Given the description of an element on the screen output the (x, y) to click on. 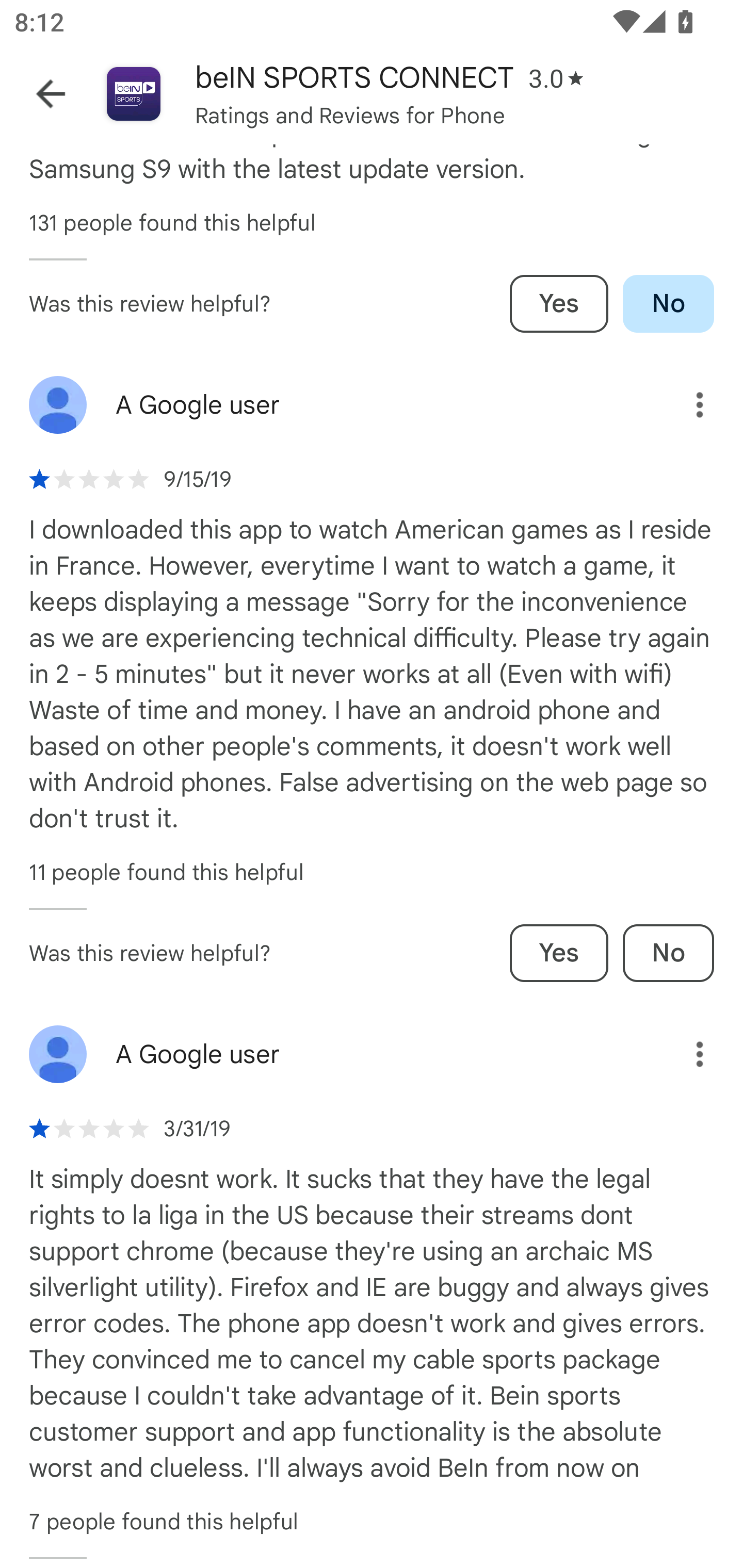
Navigate up (50, 93)
Yes (558, 303)
No (668, 303)
Options (685, 405)
Yes (558, 952)
No (668, 952)
Options (685, 1054)
